Given the description of an element on the screen output the (x, y) to click on. 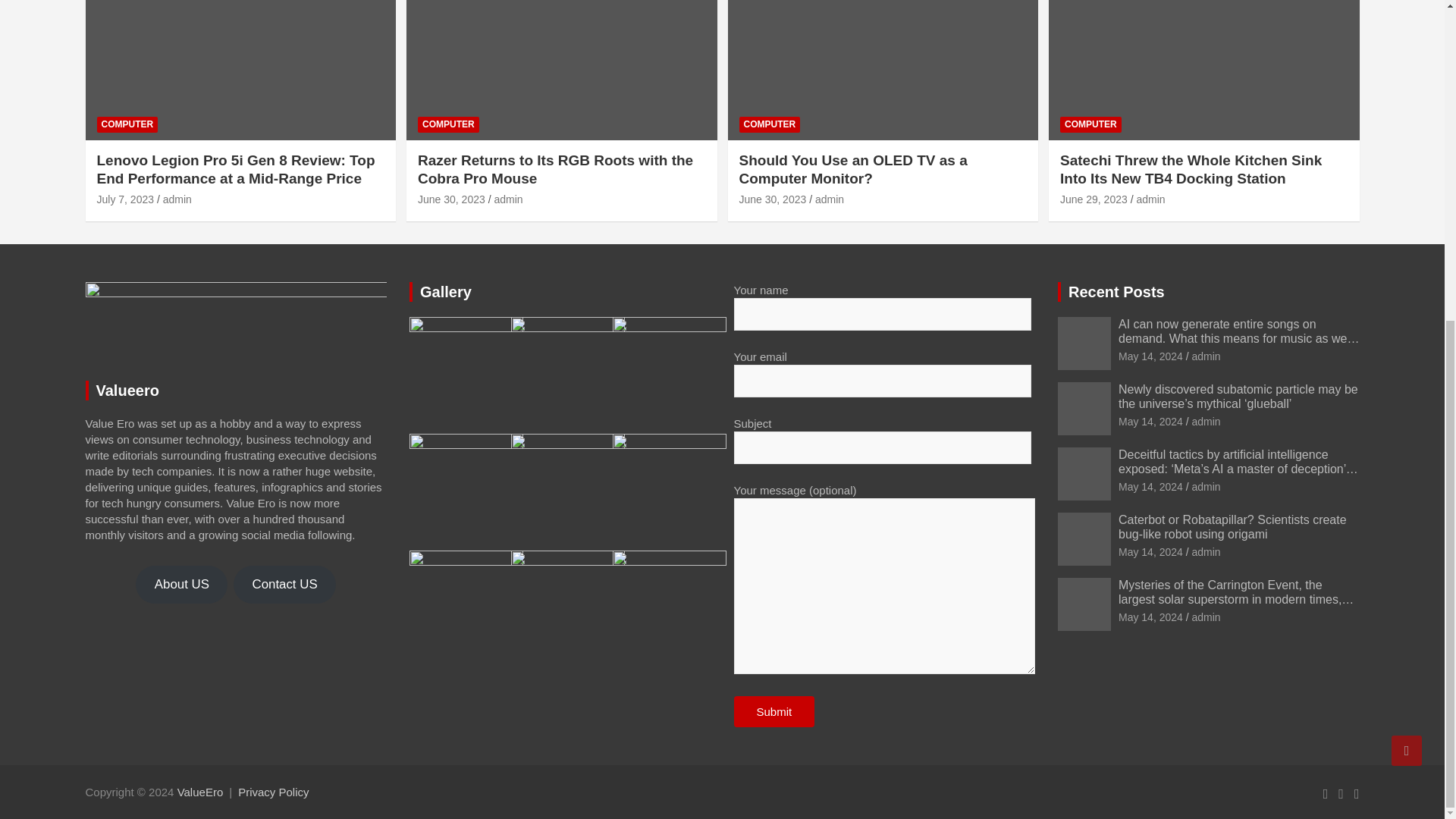
Razer Returns to Its RGB Roots with the Cobra Pro Mouse (450, 199)
Razer Returns to Its RGB Roots with the Cobra Pro Mouse (555, 169)
Should You Use an OLED TV as a Computer Monitor? (852, 169)
COMPUTER (127, 124)
July 7, 2023 (125, 199)
admin (829, 199)
June 30, 2023 (450, 199)
